Given the description of an element on the screen output the (x, y) to click on. 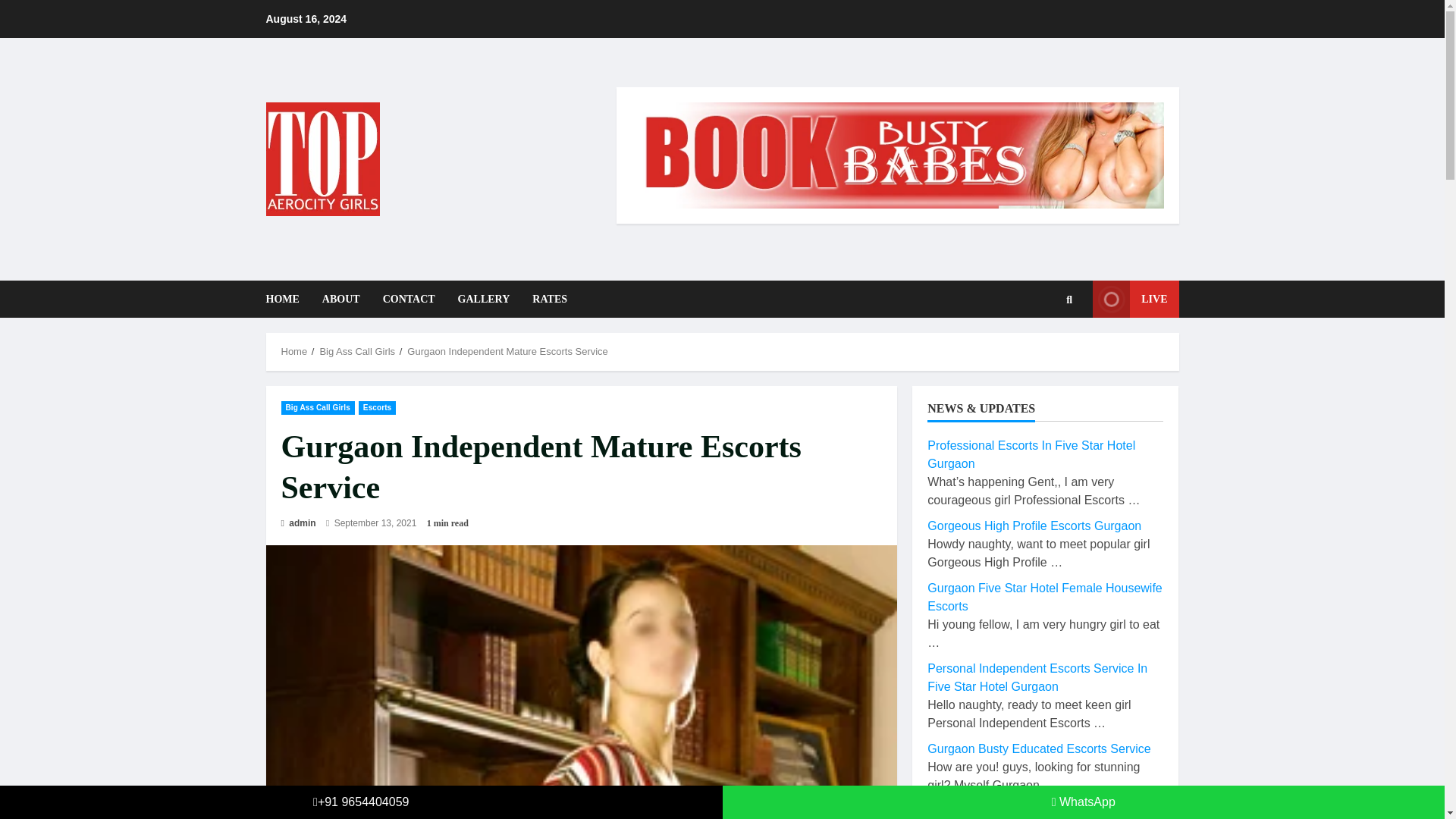
Big Ass Call Girls (317, 407)
Search (1045, 350)
LIVE (1135, 298)
admin (298, 522)
ABOUT (341, 298)
Home (294, 351)
Gurgaon Independent Mature Escorts Service (507, 351)
Escorts (377, 407)
CONTACT (408, 298)
GALLERY (483, 298)
